Given the description of an element on the screen output the (x, y) to click on. 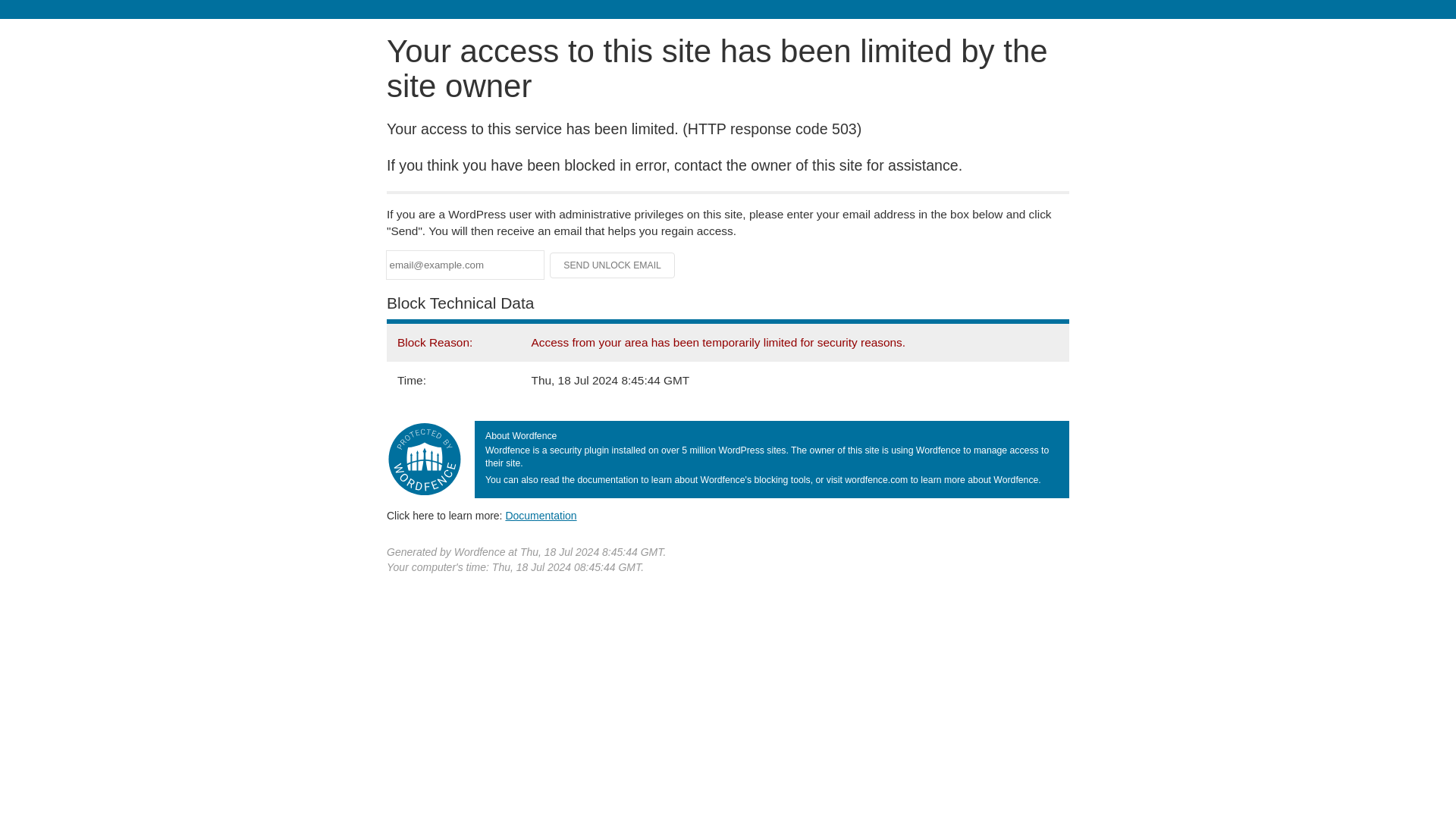
Documentation (540, 515)
Send Unlock Email (612, 265)
Send Unlock Email (612, 265)
